Given the description of an element on the screen output the (x, y) to click on. 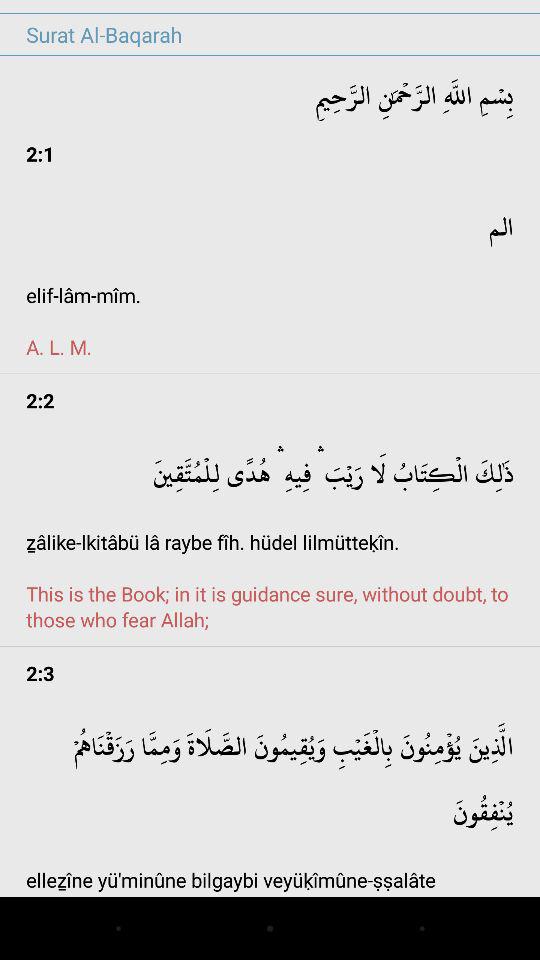
click the item below 2:2 item (270, 536)
